Given the description of an element on the screen output the (x, y) to click on. 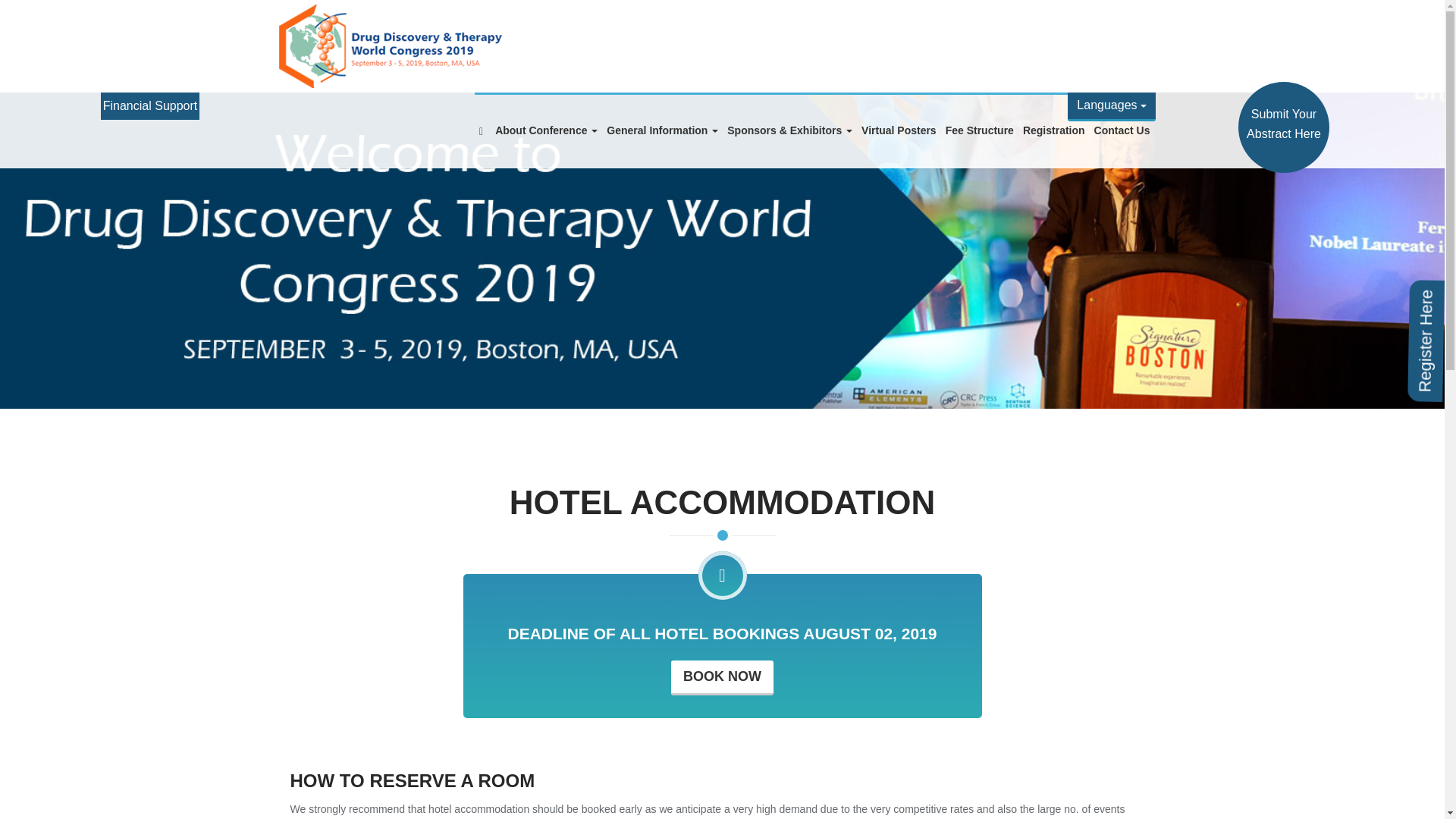
General Information (662, 130)
Financial Support (149, 105)
Virtual Posters (898, 130)
About Conference (546, 130)
Languages (1111, 106)
Fee Structure (978, 130)
Registration (1053, 130)
